Given the description of an element on the screen output the (x, y) to click on. 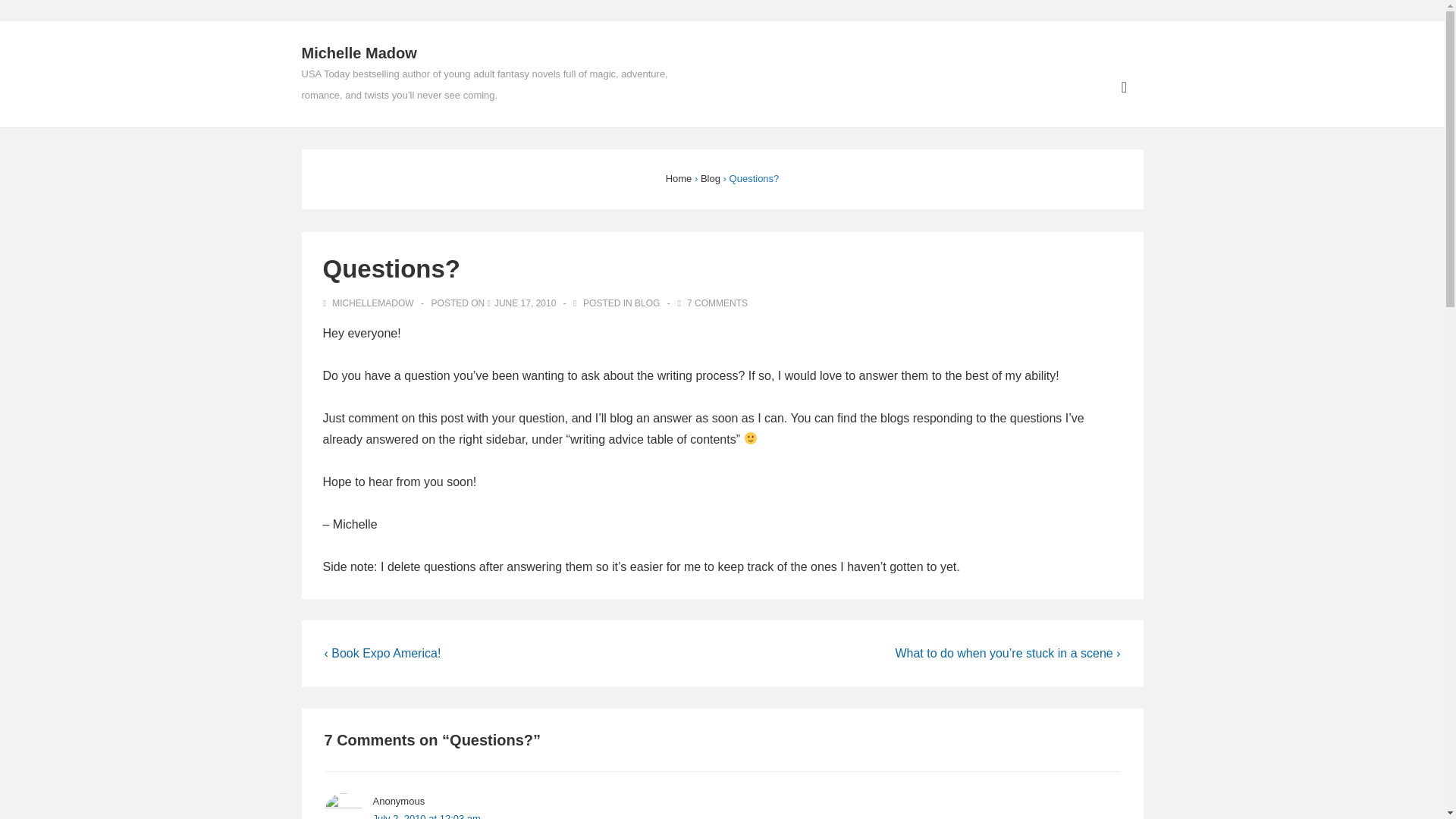
MICHELLEMADOW (369, 303)
View all posts by michellemadow (369, 303)
Menu (1123, 87)
7 COMMENTS (717, 303)
Home (679, 178)
July 2, 2010 at 12:03 am (426, 816)
JUNE 17, 2010 (525, 303)
Michelle Madow (358, 53)
BLOG (646, 303)
Questions? (525, 303)
